Given the description of an element on the screen output the (x, y) to click on. 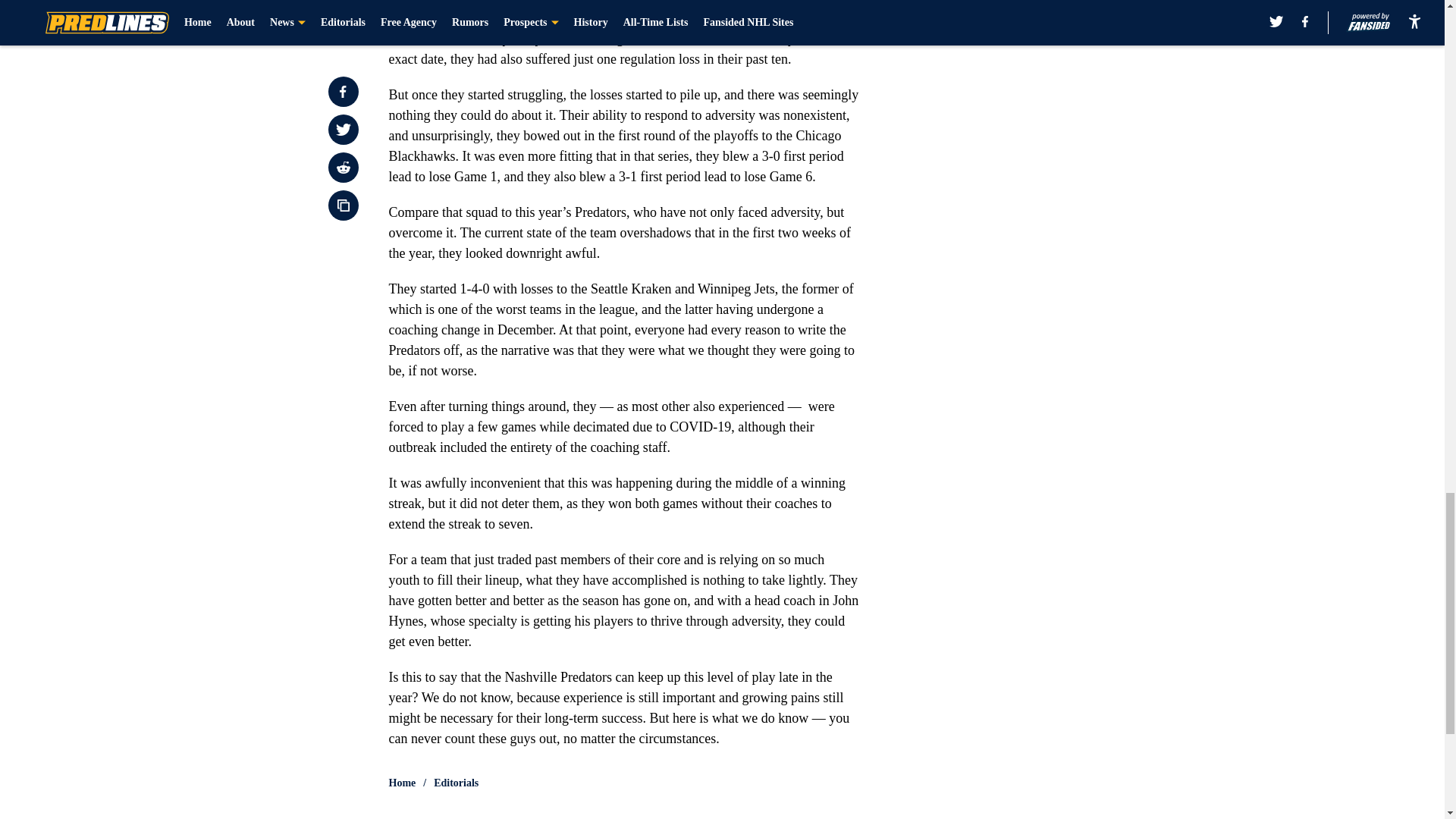
Editorials (456, 783)
Home (401, 783)
